Given the description of an element on the screen output the (x, y) to click on. 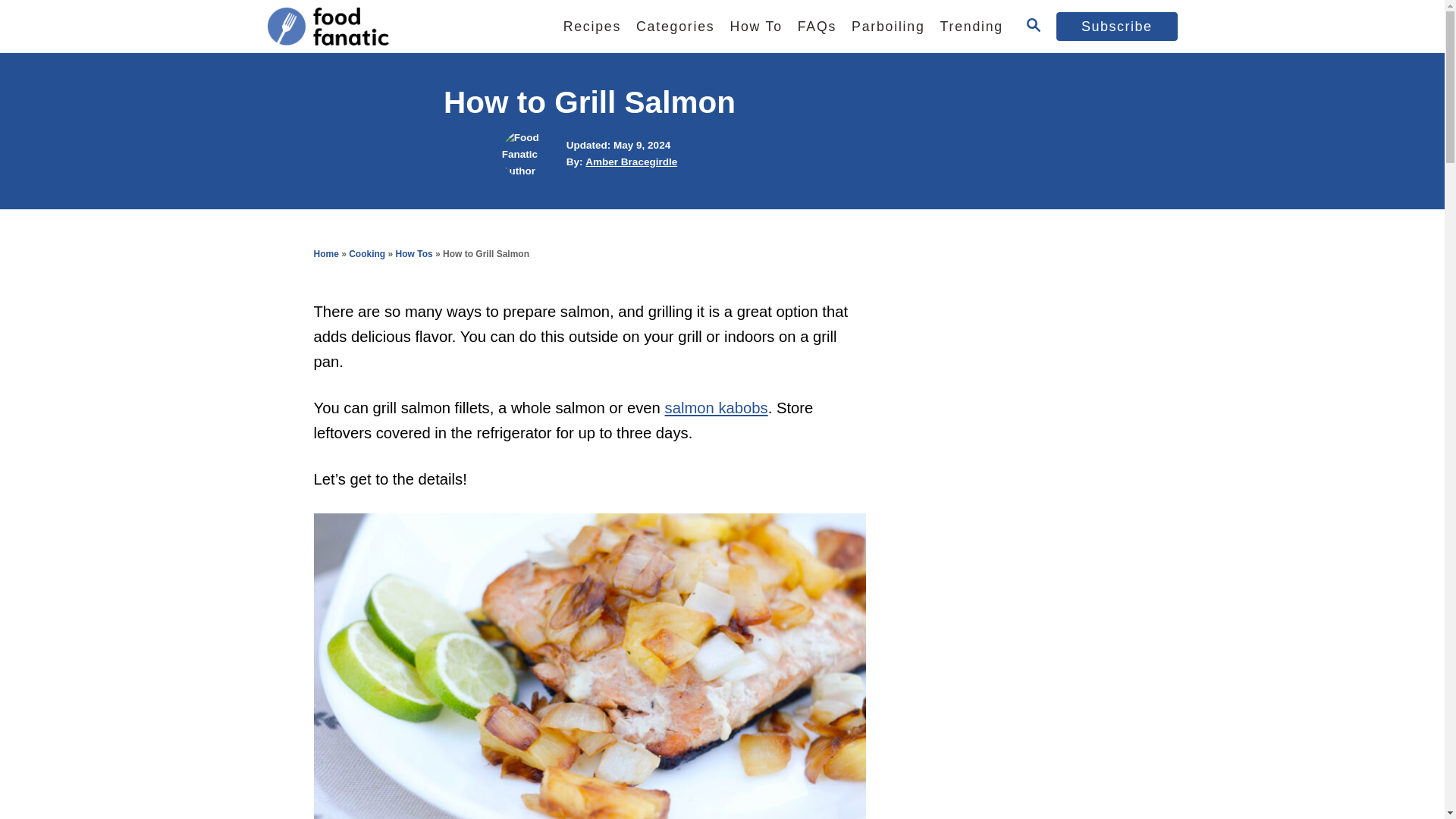
FAQs (817, 26)
Recipes (592, 26)
Food Fanatic (395, 26)
Categories (675, 26)
SEARCH (1033, 26)
How To (755, 26)
